Given the description of an element on the screen output the (x, y) to click on. 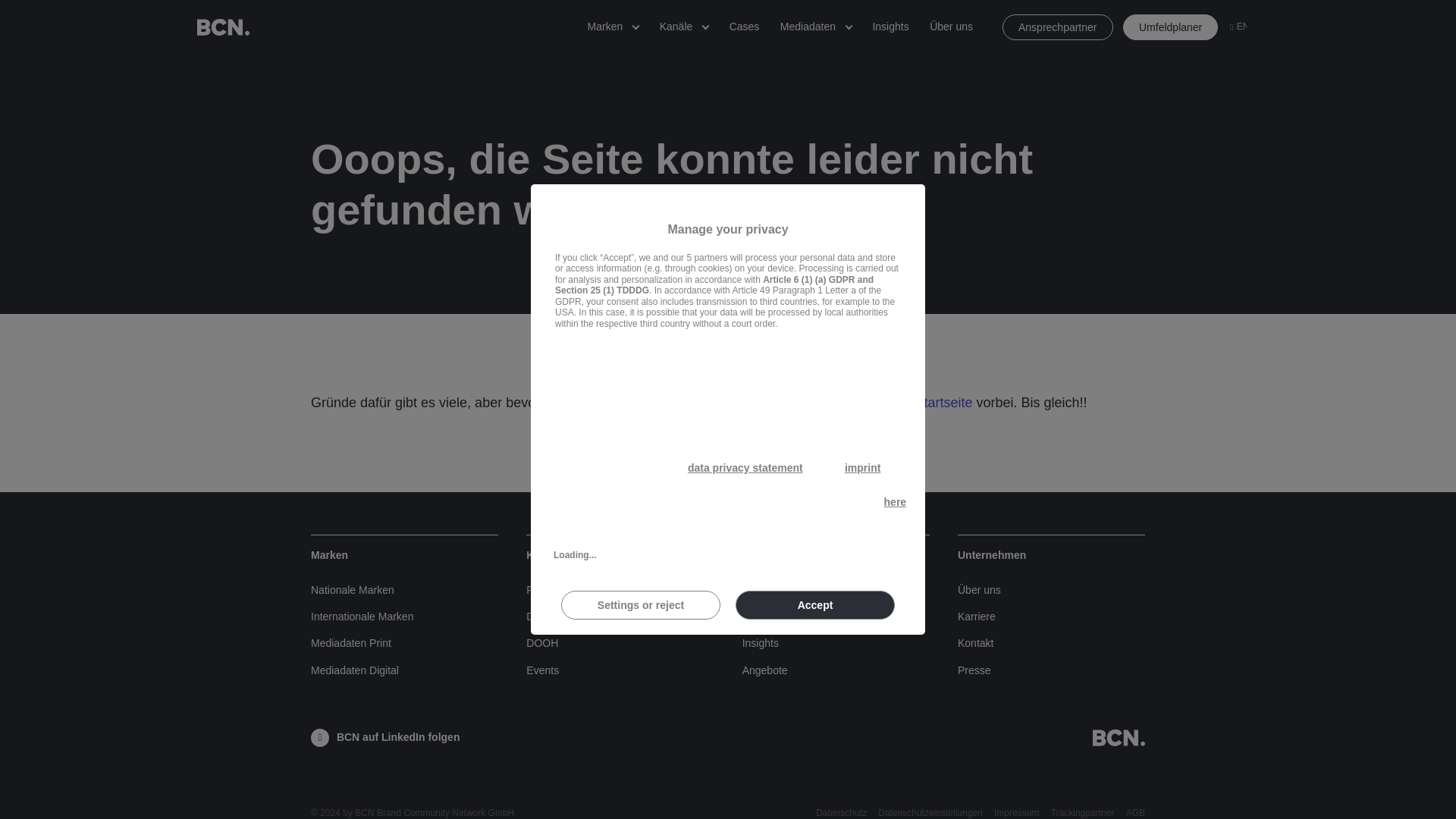
Umfeldplaner (1169, 26)
Cases (744, 26)
Marken (605, 26)
Mediadaten (807, 26)
THE BRAND COMMUNITY NETWORK (222, 26)
Ansprechpartner (1058, 26)
Insights (890, 26)
